Given the description of an element on the screen output the (x, y) to click on. 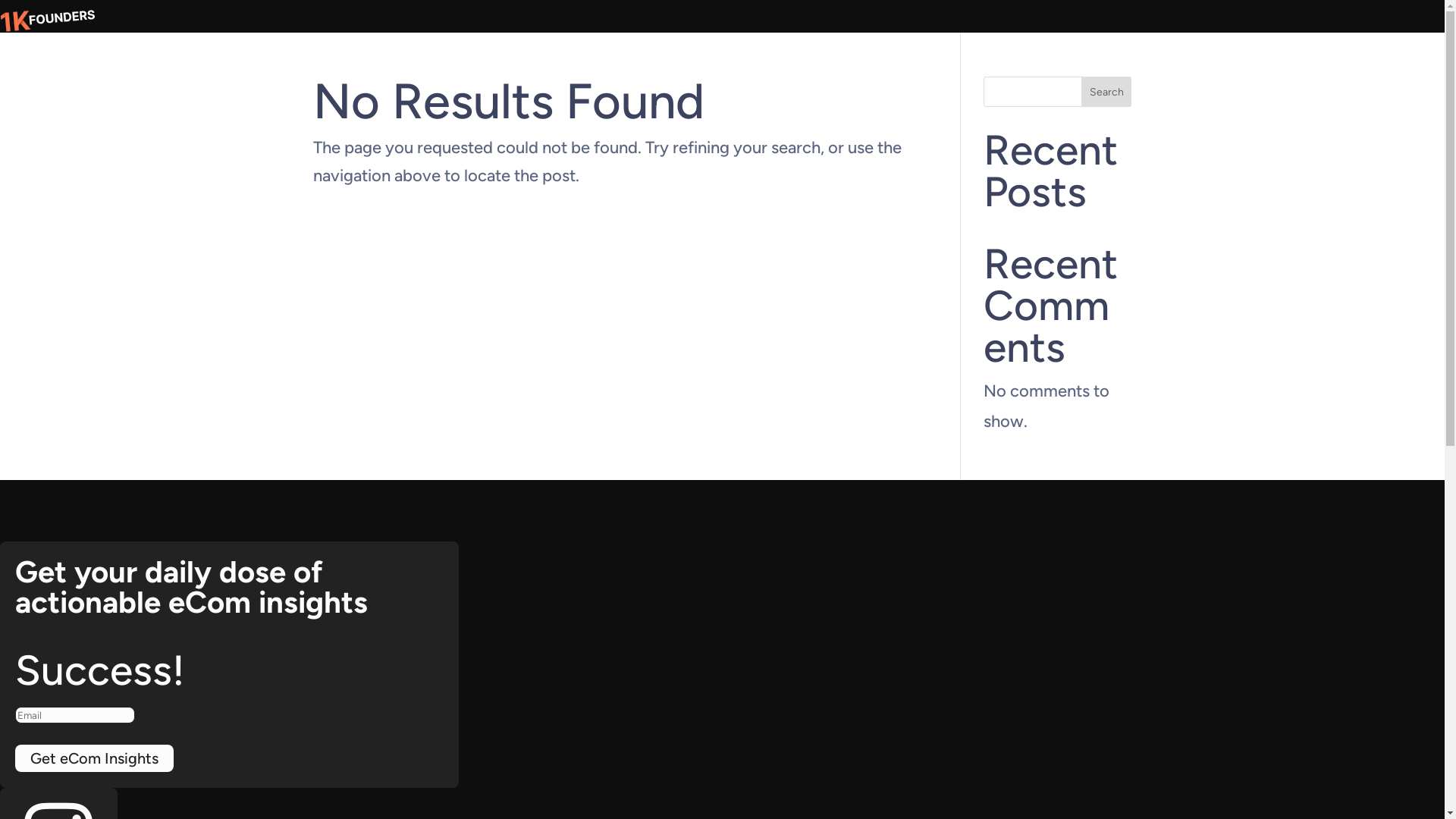
1K-Founders-Logo-Light Element type: hover (47, 20)
Get eCom Insights Element type: text (94, 757)
Search Element type: text (1106, 91)
